Given the description of an element on the screen output the (x, y) to click on. 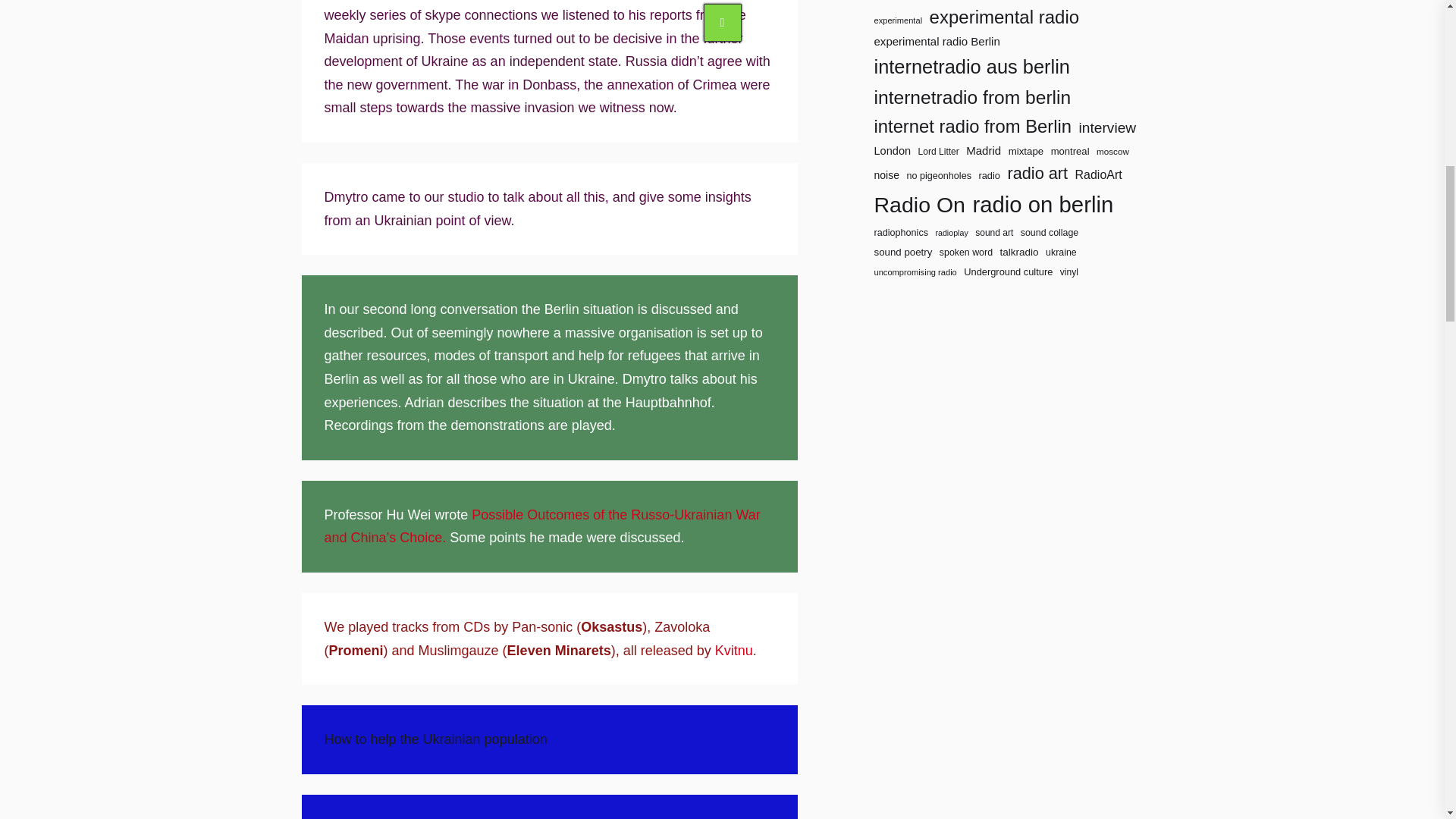
Kvitnu (733, 650)
